Given the description of an element on the screen output the (x, y) to click on. 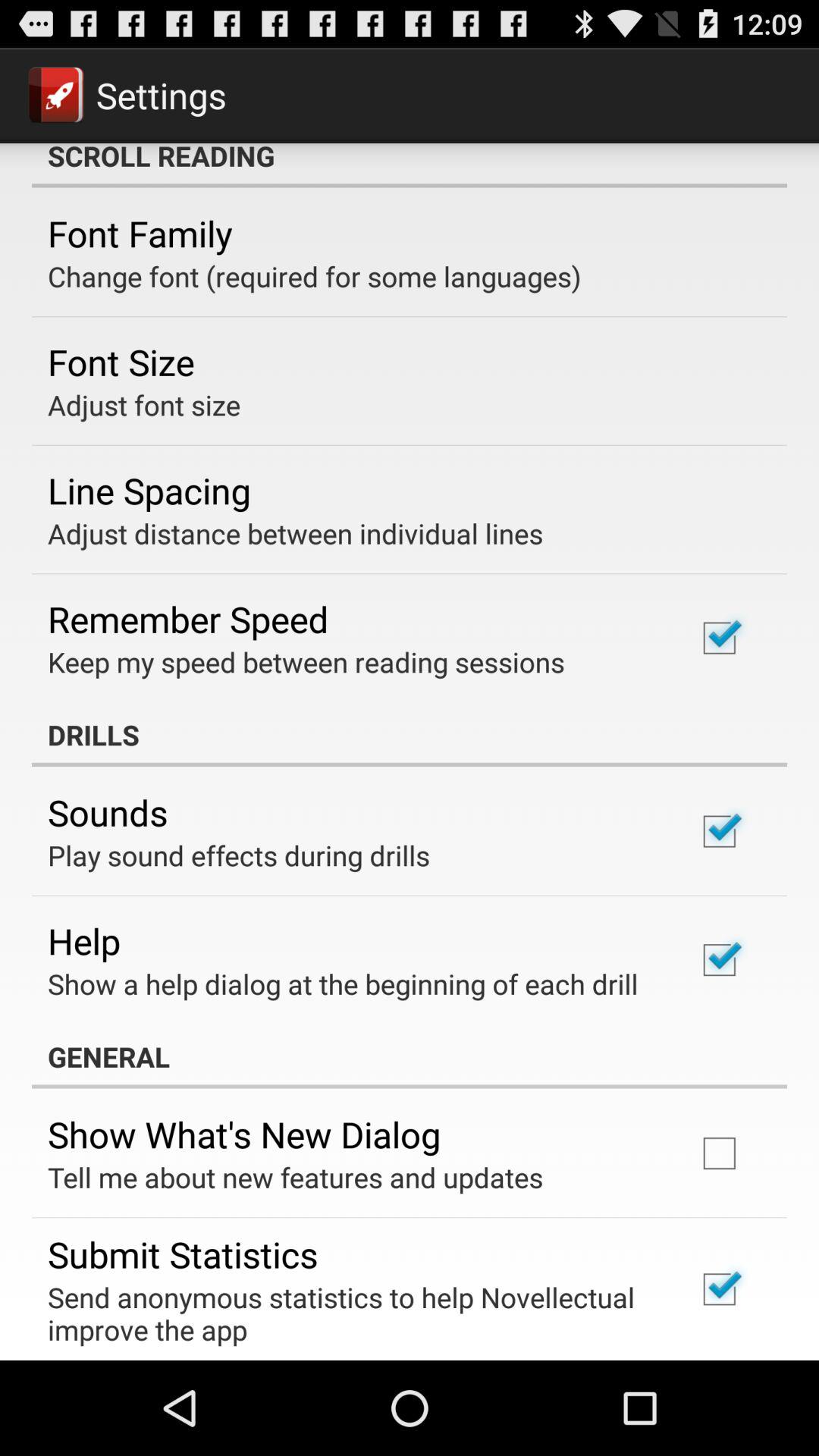
select the item above the send anonymous statistics item (182, 1254)
